Given the description of an element on the screen output the (x, y) to click on. 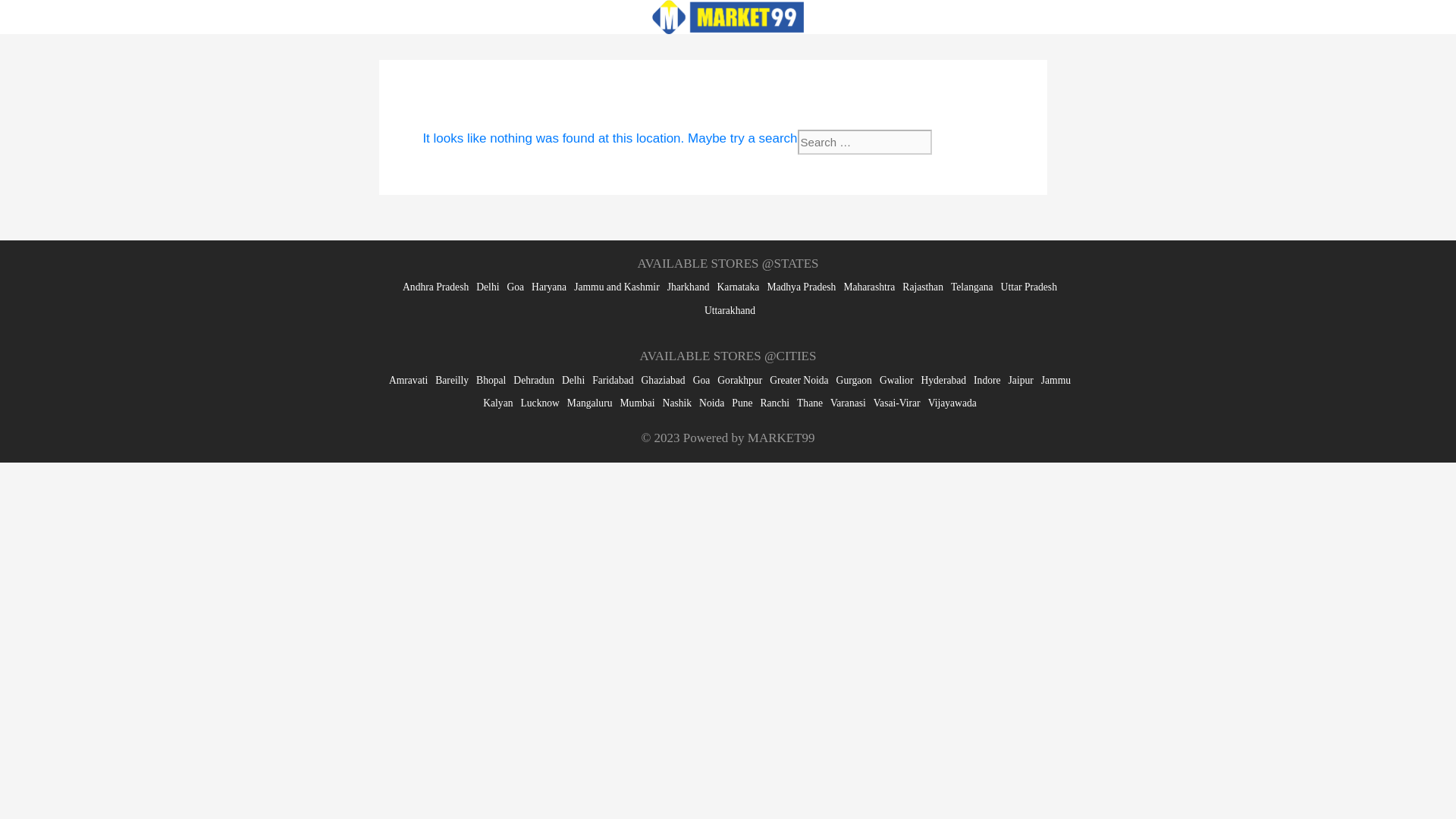
Faridabad (612, 379)
Madhya Pradesh (801, 286)
Bareilly (451, 379)
Ghaziabad (663, 379)
Karnataka (738, 286)
Dehradun (533, 379)
Amravati (408, 379)
Jharkhand (688, 286)
Delhi (487, 286)
Search (961, 141)
Uttarakhand (729, 310)
Rajasthan (922, 286)
Bhopal (490, 379)
Uttar Pradesh (1029, 286)
Search (961, 141)
